Given the description of an element on the screen output the (x, y) to click on. 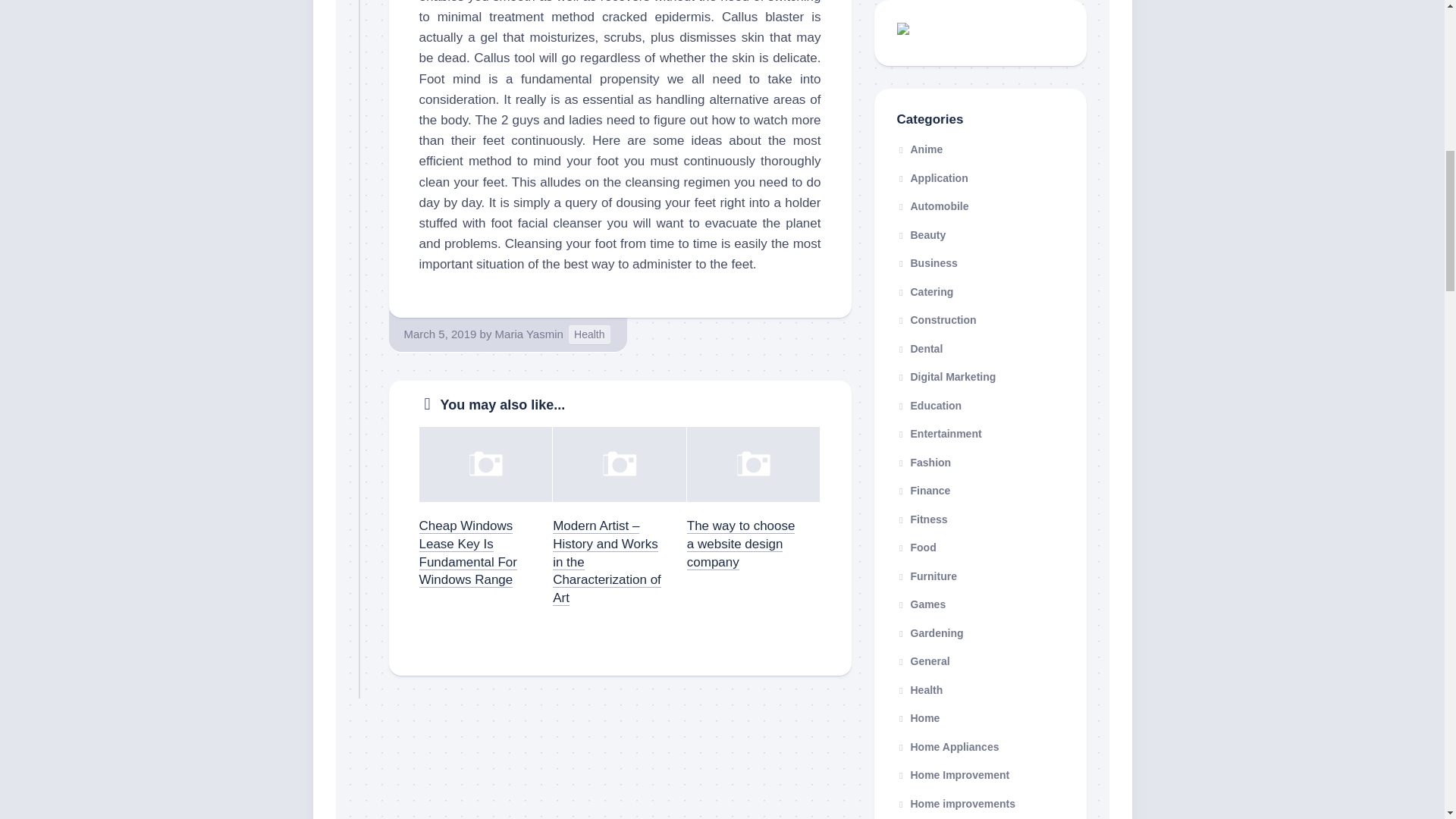
Dental (919, 348)
Construction (935, 319)
Business (926, 263)
Finance (923, 490)
Education (928, 404)
Entertainment (938, 433)
Furniture (926, 576)
Digital Marketing (945, 377)
Cheap Windows Lease Key Is Fundamental For Windows Range (467, 552)
Fitness (921, 518)
Posts by Maria Yasmin (529, 333)
Fashion (923, 462)
Anime (919, 149)
Application (932, 177)
Health (589, 334)
